Given the description of an element on the screen output the (x, y) to click on. 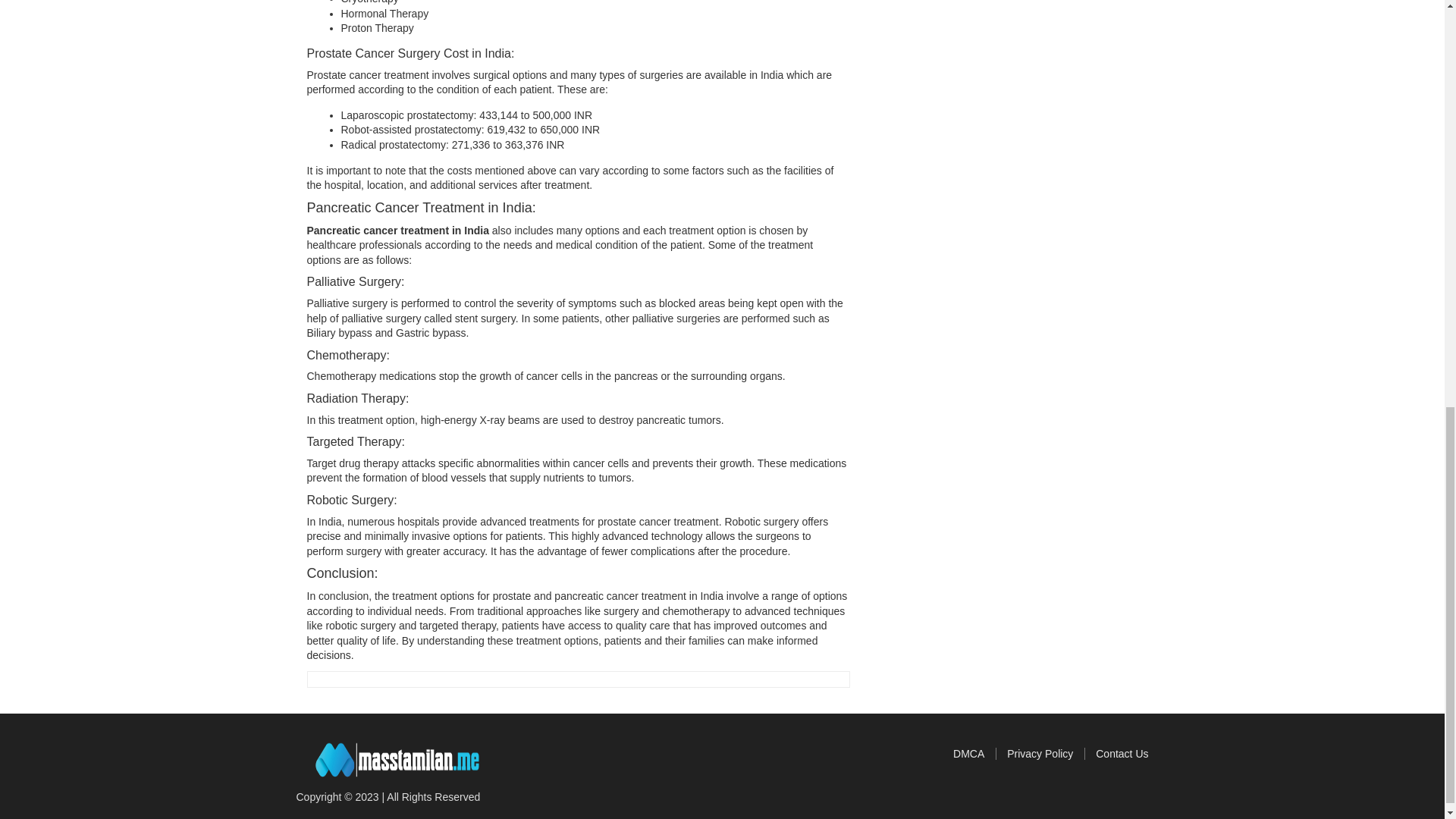
DMCA (974, 753)
Privacy Policy (1045, 753)
Pancreatic cancer treatment in India (396, 230)
Contact Us (1122, 753)
